Given the description of an element on the screen output the (x, y) to click on. 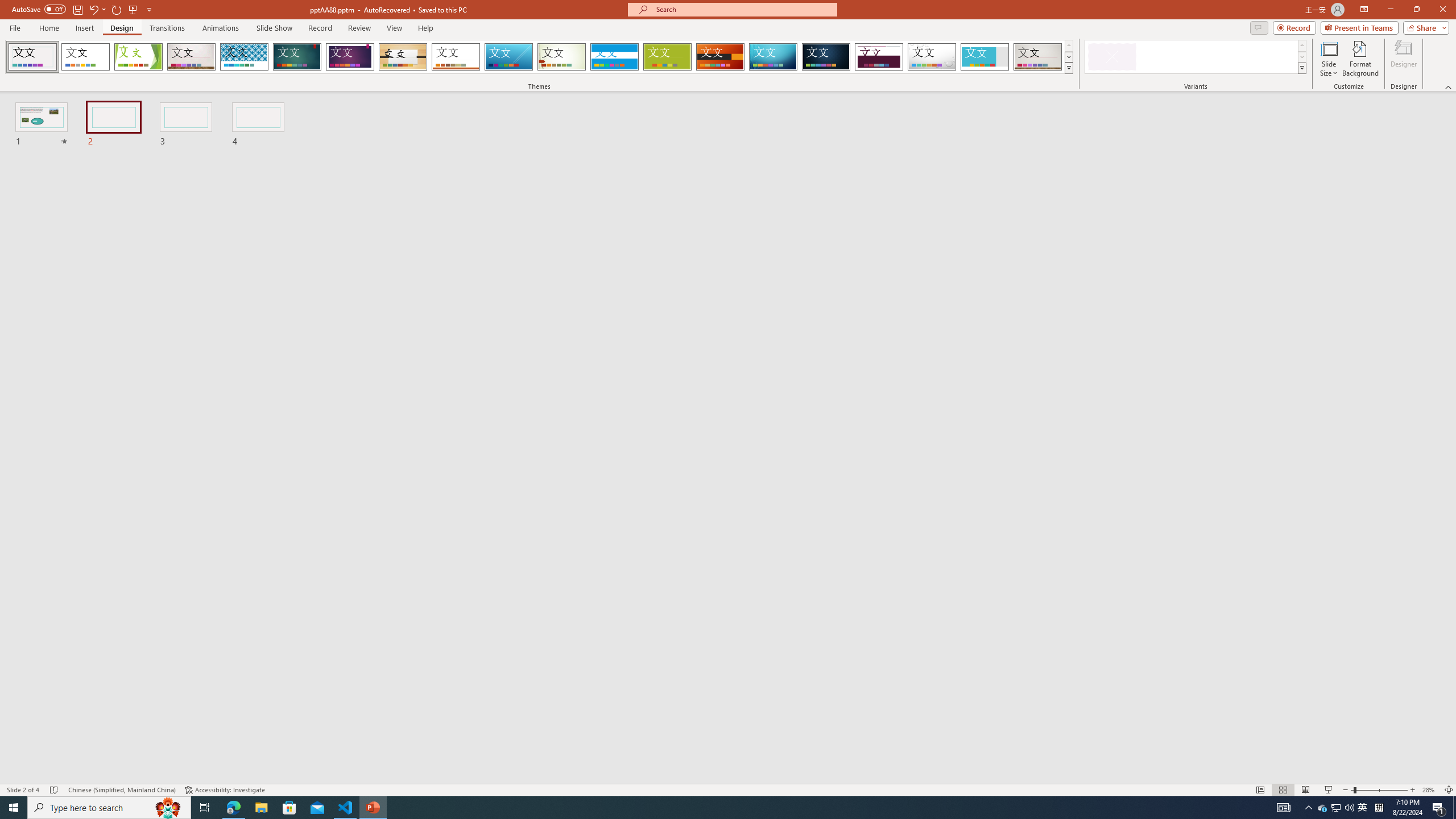
Banded Loading Preview... (614, 56)
Integral Loading Preview... (244, 56)
Slice Loading Preview... (508, 56)
Gallery Loading Preview... (1037, 56)
